Given the description of an element on the screen output the (x, y) to click on. 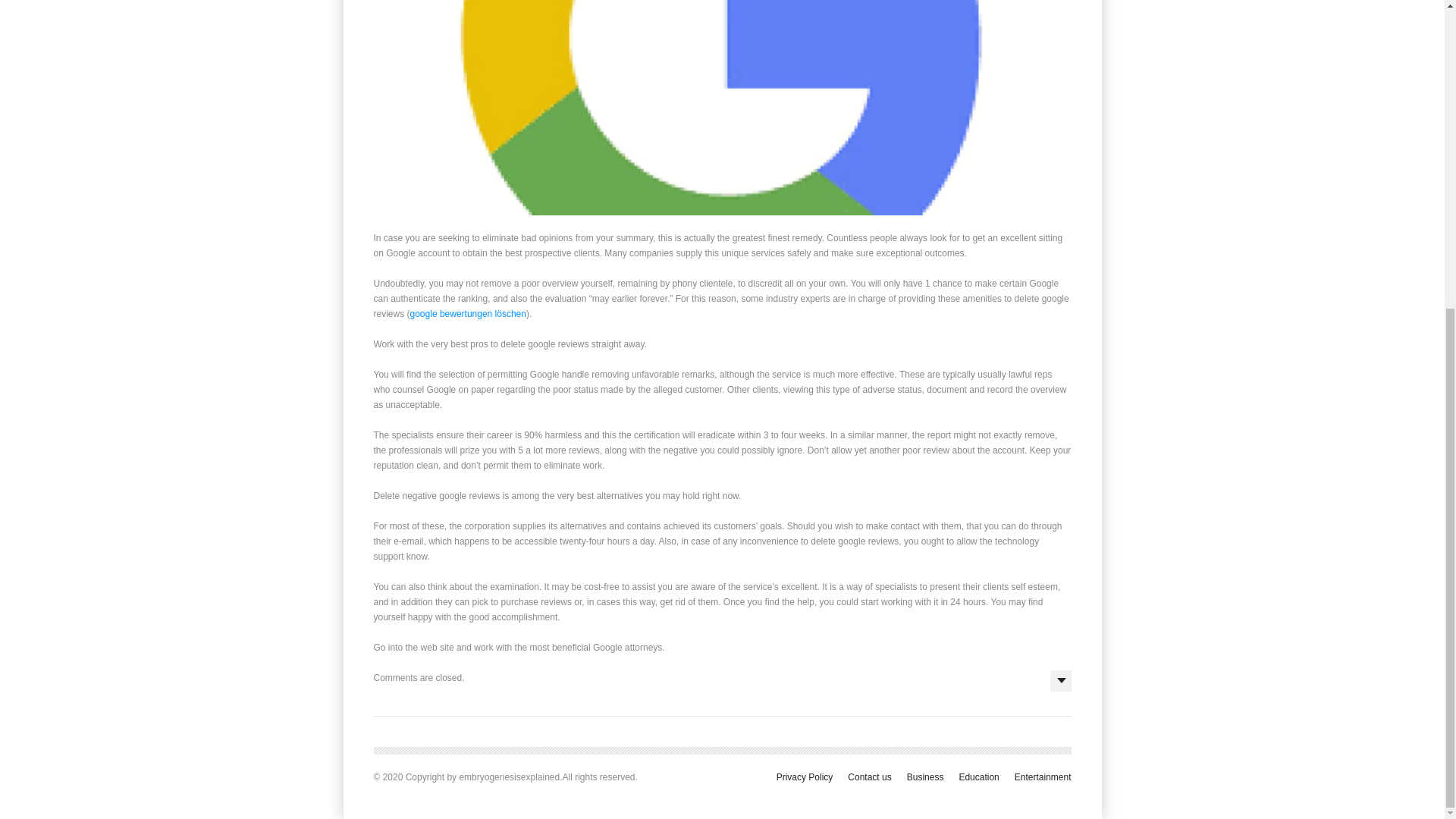
Education (978, 777)
Business (925, 777)
Contact us (869, 777)
Entertainment (1042, 777)
Privacy Policy (804, 777)
